Given the description of an element on the screen output the (x, y) to click on. 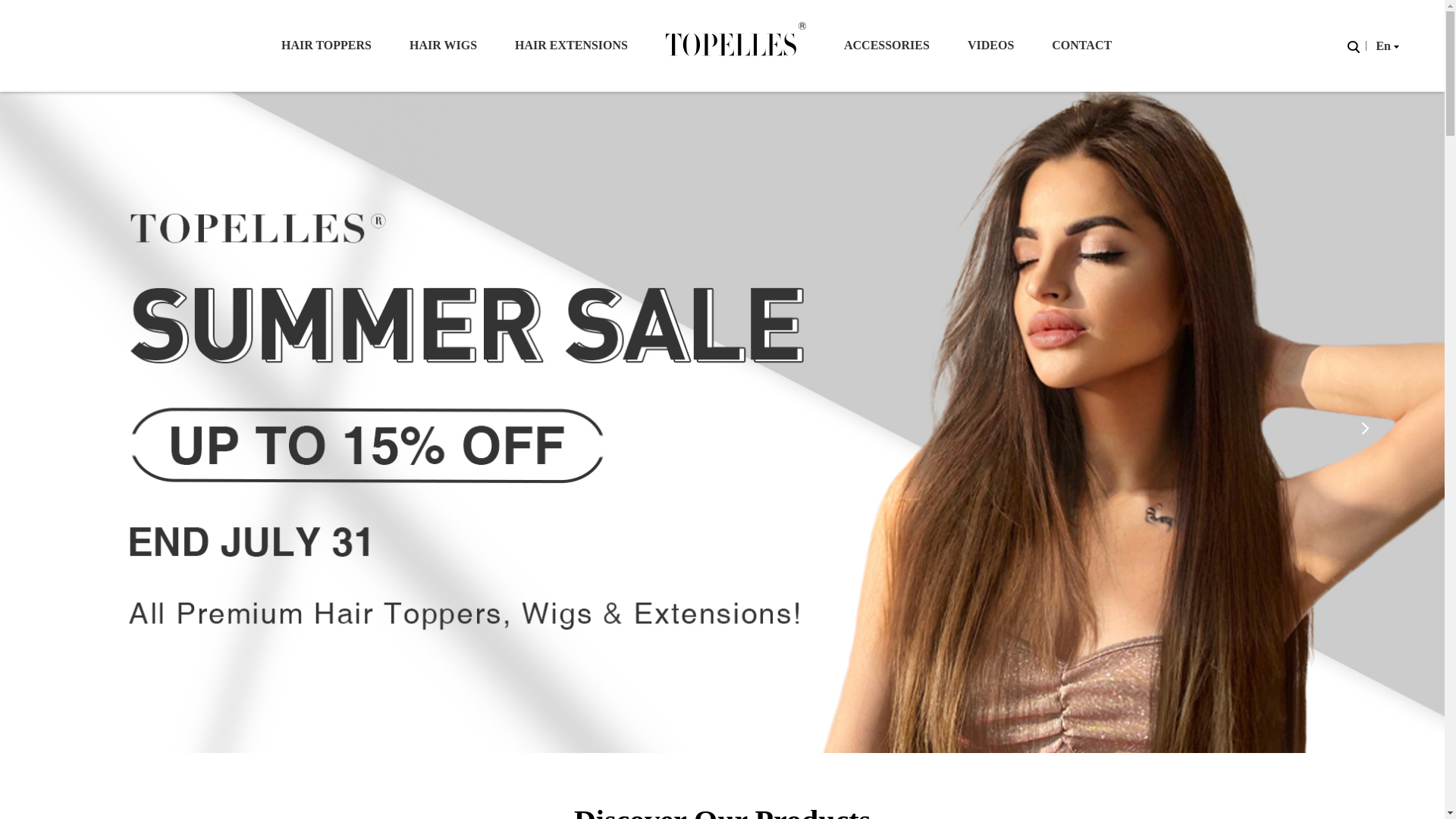
ACCESSORIES (887, 45)
  En (1384, 46)
HAIR TOPPERS (326, 45)
HAIR EXTENSIONS (571, 45)
